Given the description of an element on the screen output the (x, y) to click on. 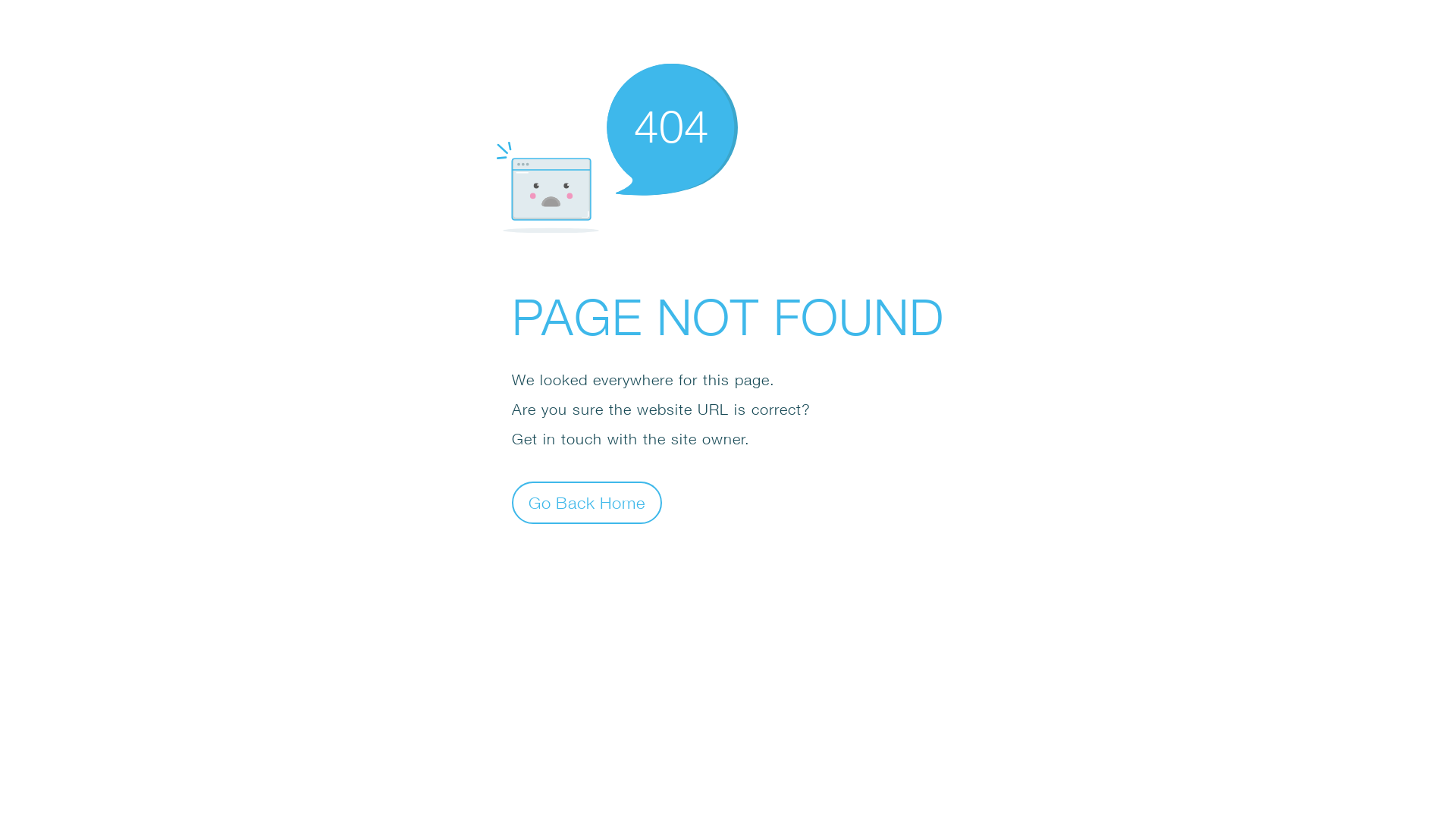
Go Back Home Element type: text (586, 502)
